Given the description of an element on the screen output the (x, y) to click on. 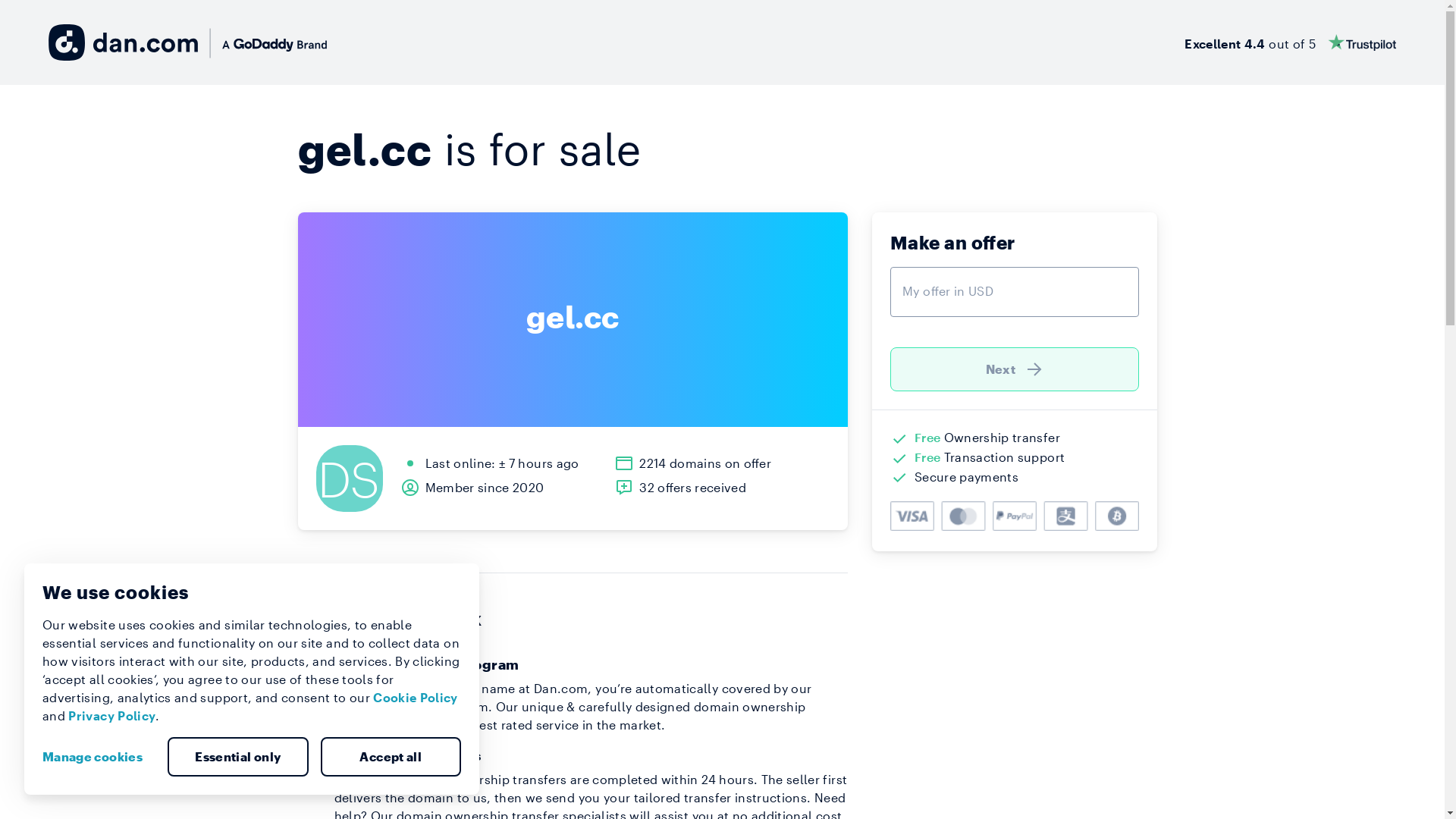
Manage cookies Element type: text (98, 756)
Next
) Element type: text (1014, 369)
Accept all Element type: text (390, 756)
Privacy Policy Element type: text (111, 715)
Excellent 4.4 out of 5 Element type: text (1290, 42)
Essential only Element type: text (237, 756)
Cookie Policy Element type: text (415, 697)
